Given the description of an element on the screen output the (x, y) to click on. 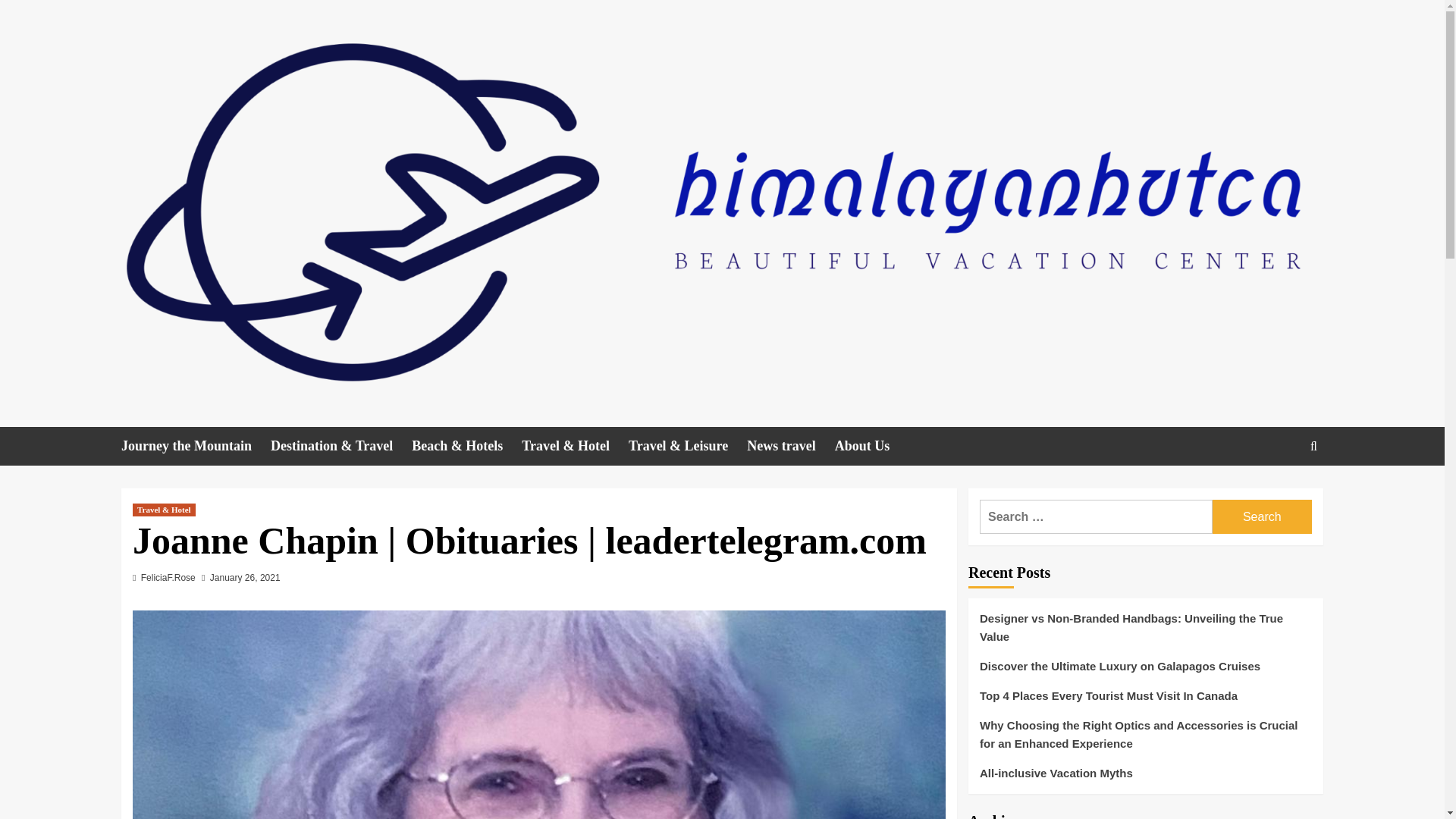
FeliciaF.Rose (168, 577)
Journey the Mountain (195, 446)
About Us (871, 446)
Search (1313, 446)
Search (1278, 492)
Search (1261, 516)
News travel (790, 446)
January 26, 2021 (245, 577)
Search (1261, 516)
